Given the description of an element on the screen output the (x, y) to click on. 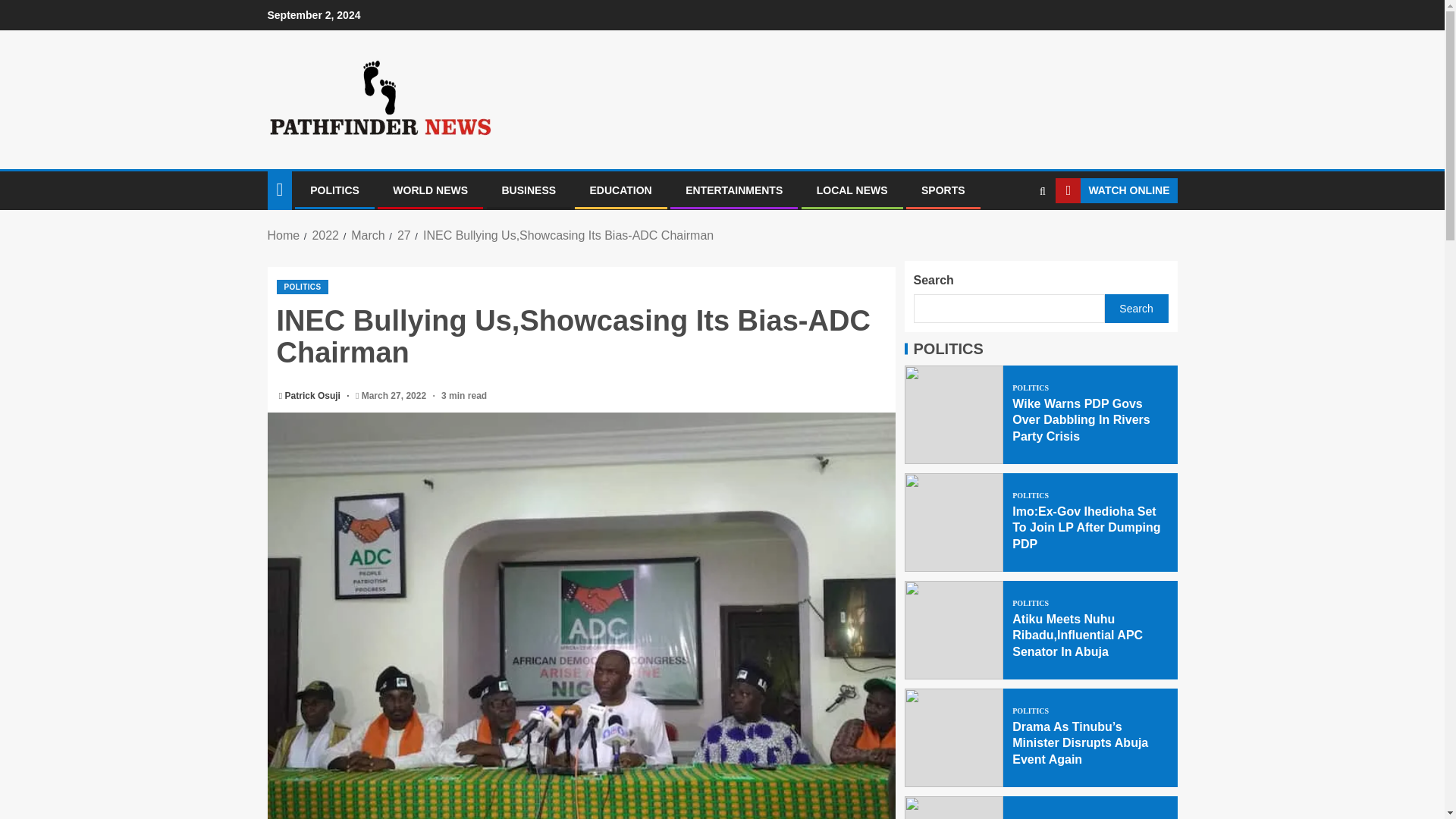
INEC Bullying Us,Showcasing Its Bias-ADC Chairman (568, 235)
WATCH ONLINE (1115, 190)
SPORTS (943, 190)
BUSINESS (529, 190)
WORLD NEWS (430, 190)
27 (403, 235)
Patrick Osuji (314, 395)
POLITICS (334, 190)
Home (282, 235)
EDUCATION (620, 190)
